Given the description of an element on the screen output the (x, y) to click on. 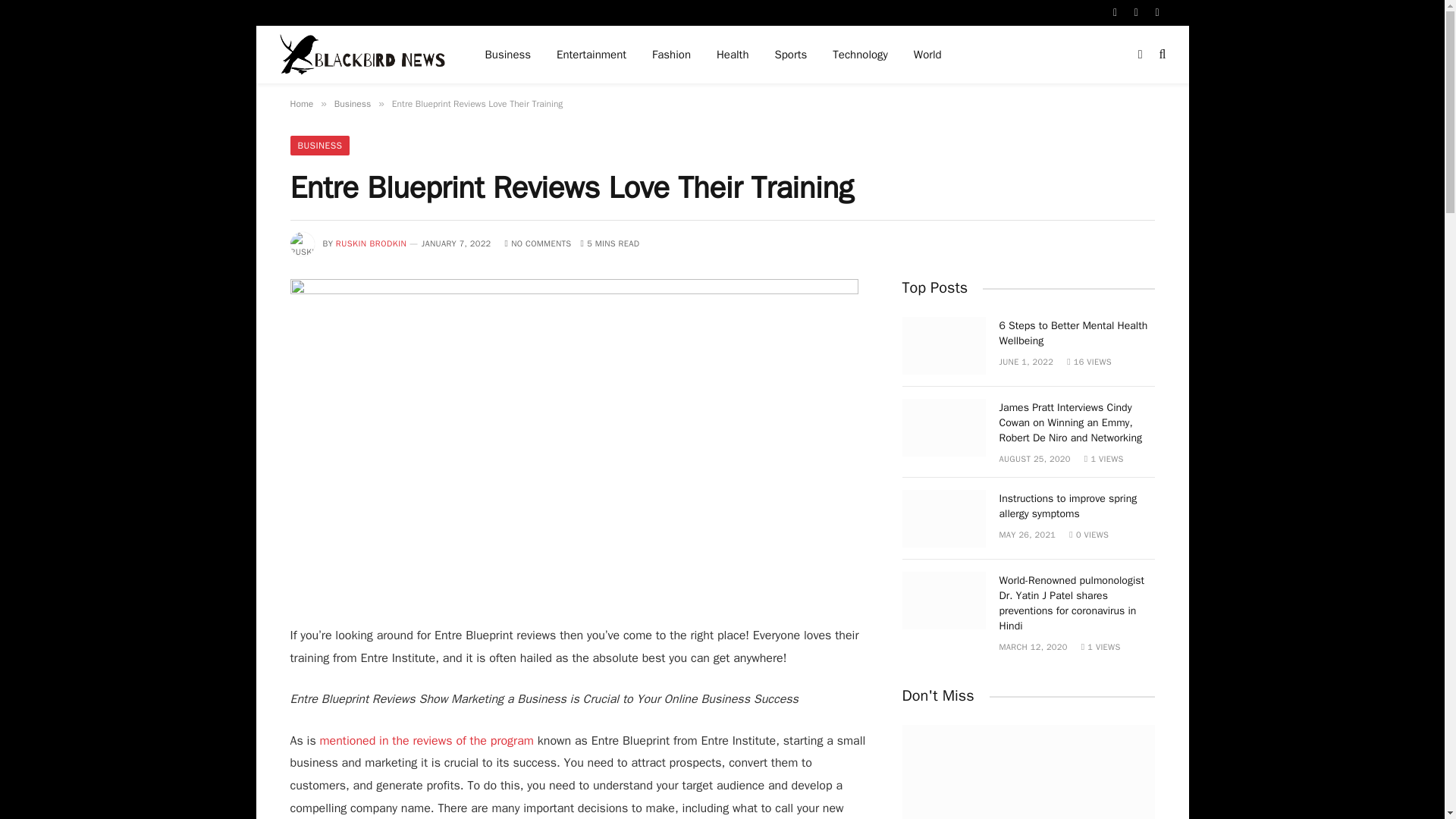
RUSKIN BRODKIN (371, 243)
Health (732, 54)
BUSINESS (319, 145)
Switch to Dark Design - easier on eyes. (1140, 54)
Home (301, 103)
Business (352, 103)
Business (507, 54)
World (928, 54)
Entertainment (591, 54)
